Given the description of an element on the screen output the (x, y) to click on. 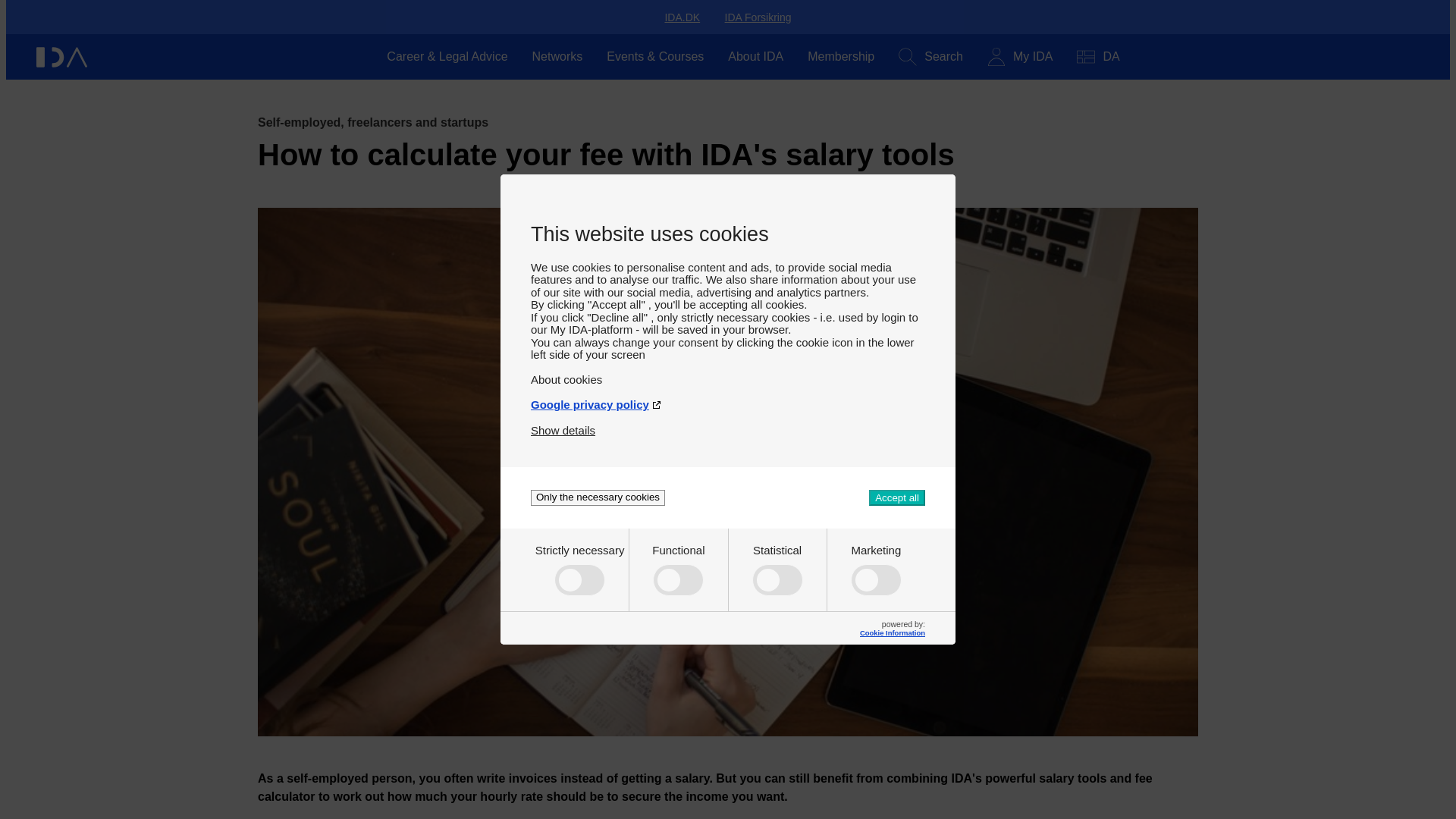
Show details (563, 423)
Google privacy policy (727, 398)
About cookies (727, 373)
